Given the description of an element on the screen output the (x, y) to click on. 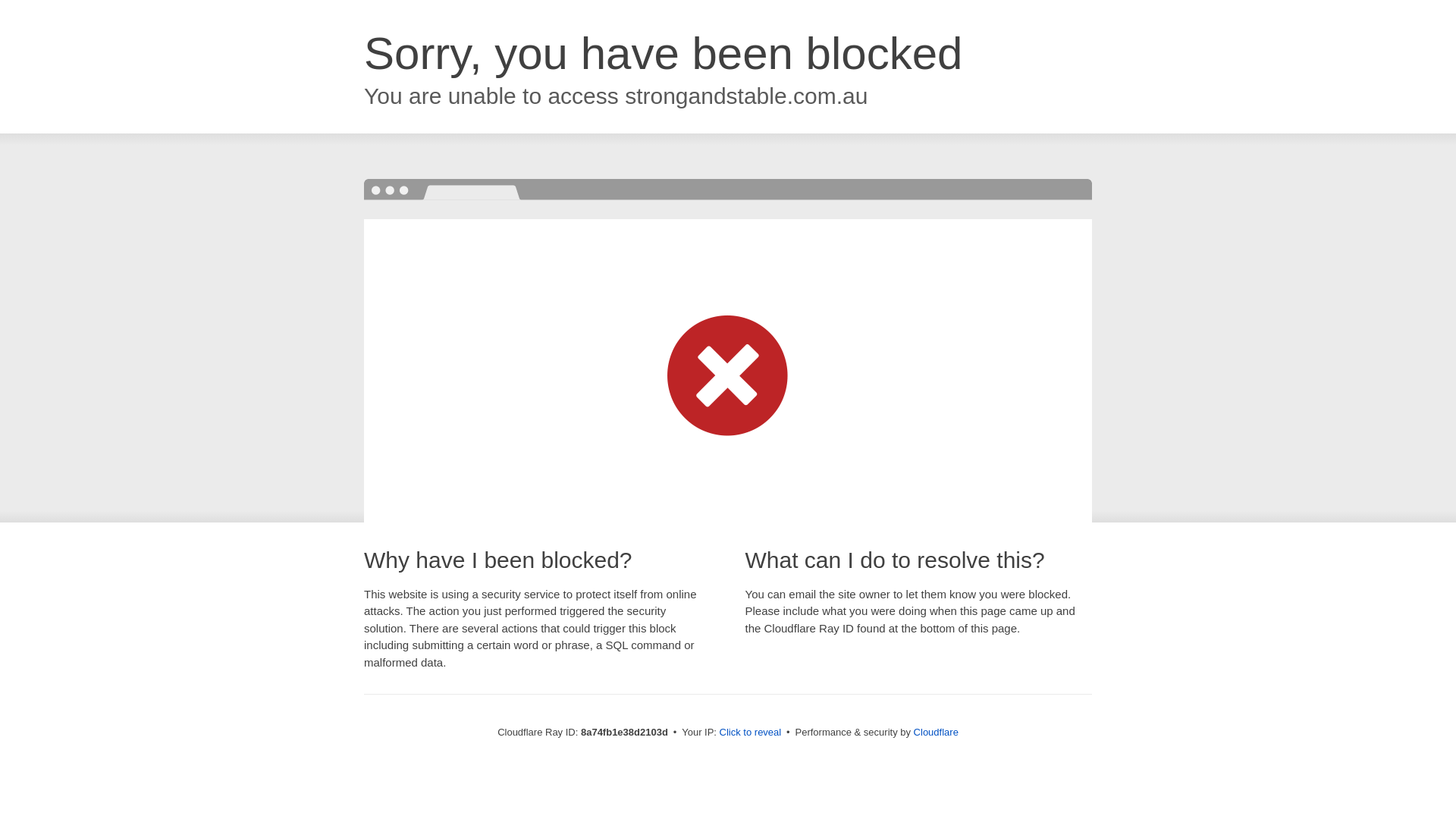
Click to reveal (750, 732)
Cloudflare (936, 731)
